Given the description of an element on the screen output the (x, y) to click on. 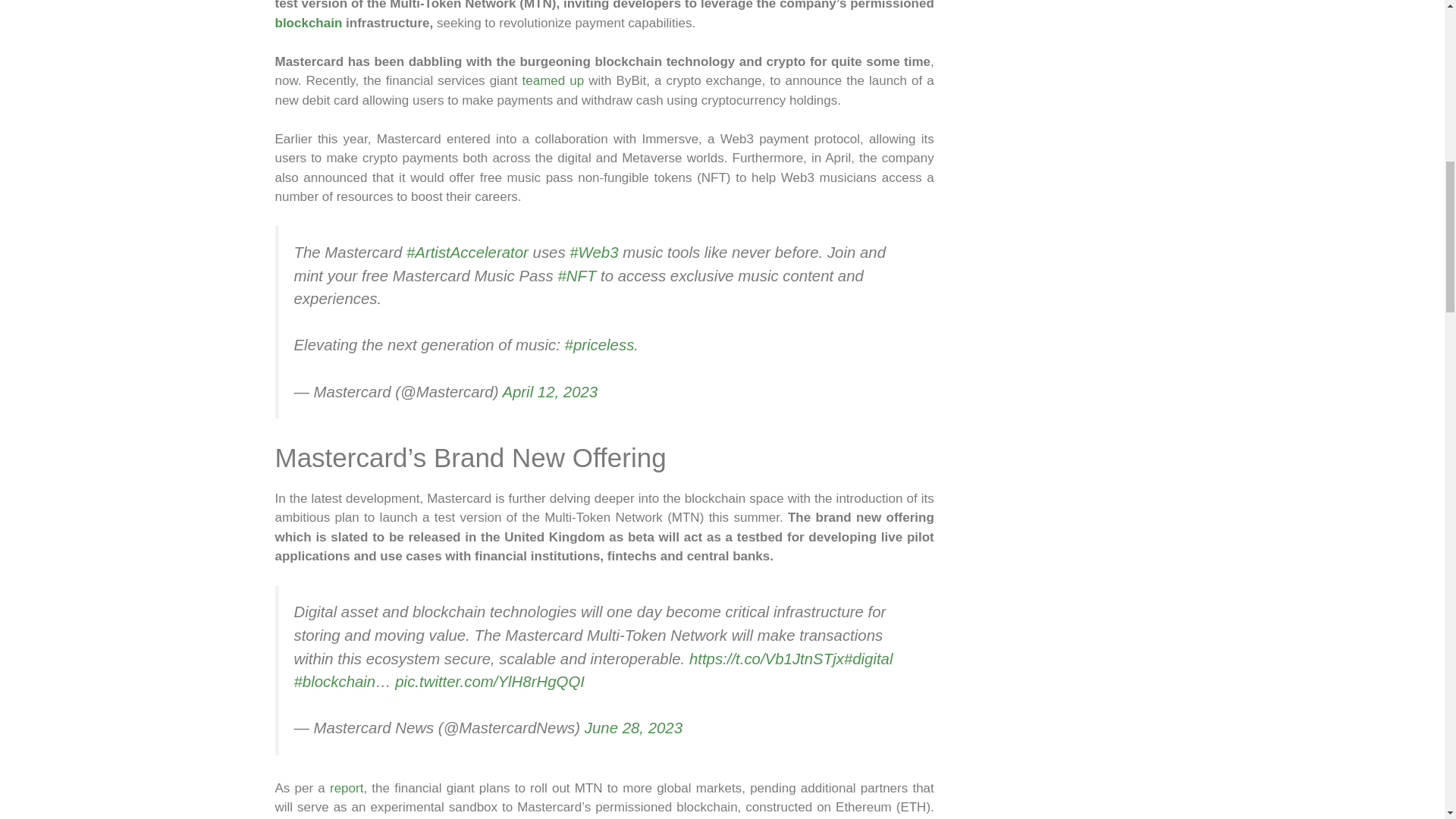
Scroll back to top (1406, 720)
